Given the description of an element on the screen output the (x, y) to click on. 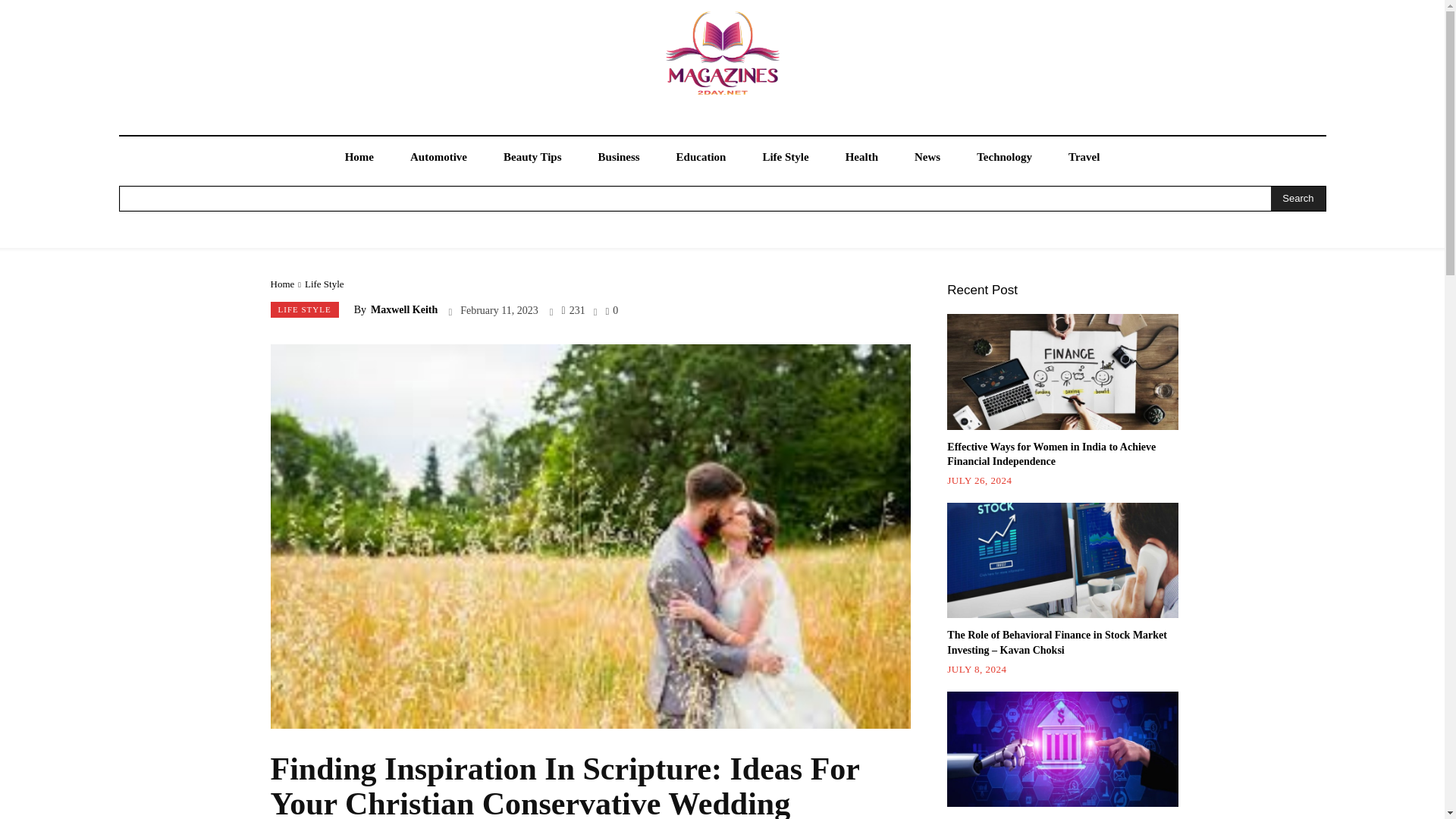
Maxwell Keith (404, 309)
Life Style (785, 157)
Home (358, 157)
Health (861, 157)
Travel (1083, 157)
LIFE STYLE (303, 309)
Home (281, 283)
0 (611, 309)
Life Style (323, 283)
Beauty Tips (531, 157)
News (927, 157)
Automotive (437, 157)
Search (1297, 198)
